Given the description of an element on the screen output the (x, y) to click on. 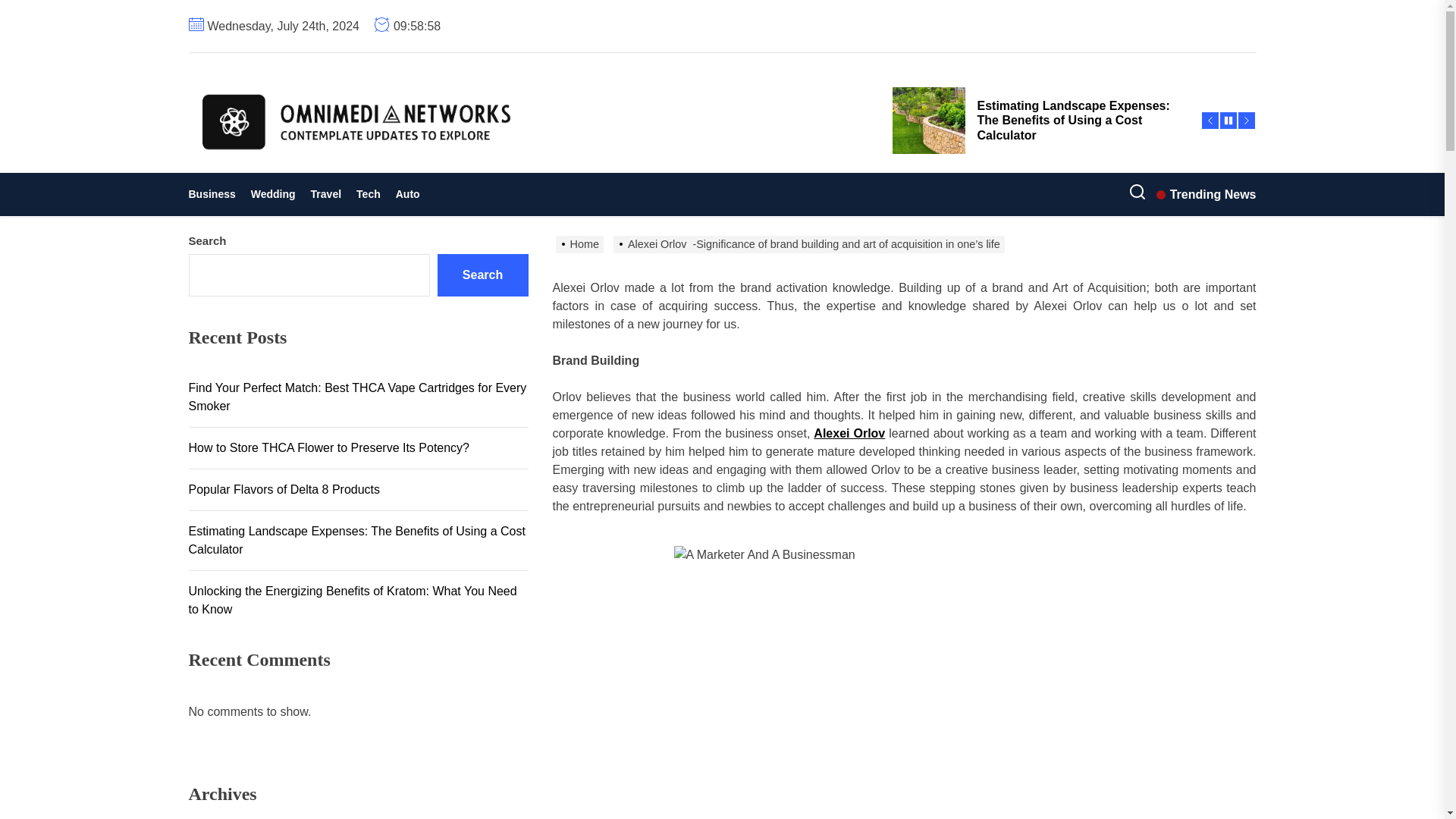
Tech (368, 194)
Auto (408, 194)
Business (215, 194)
How to Store THCA Flower to Preserve Its Potency? (1036, 52)
Travel (325, 194)
Wedding (272, 194)
Trending News (1206, 194)
OMNI MEDIA NETWORKS (426, 176)
